Given the description of an element on the screen output the (x, y) to click on. 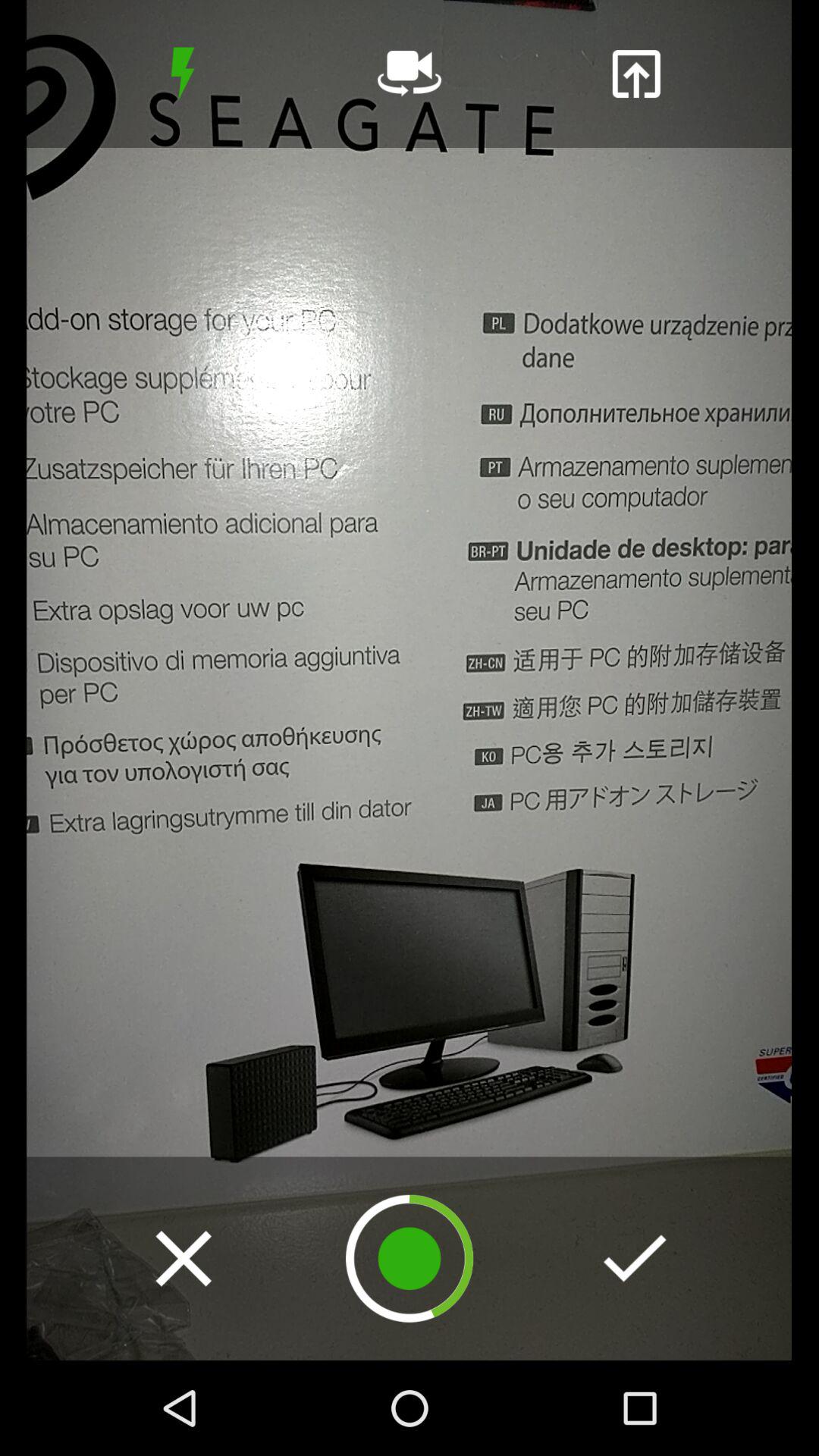
cancel recording (183, 1258)
